Given the description of an element on the screen output the (x, y) to click on. 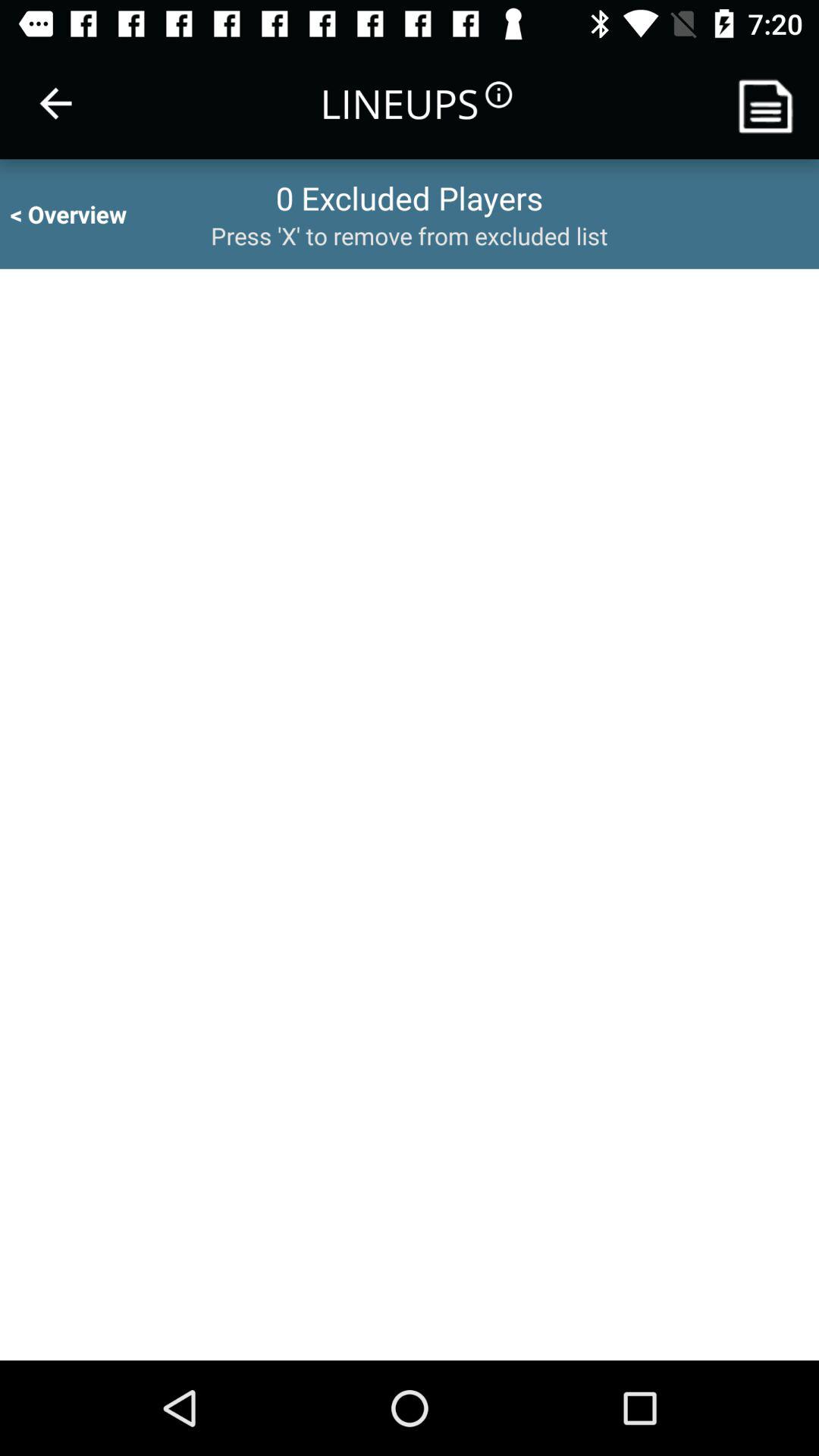
toggle bookmark option (771, 103)
